Given the description of an element on the screen output the (x, y) to click on. 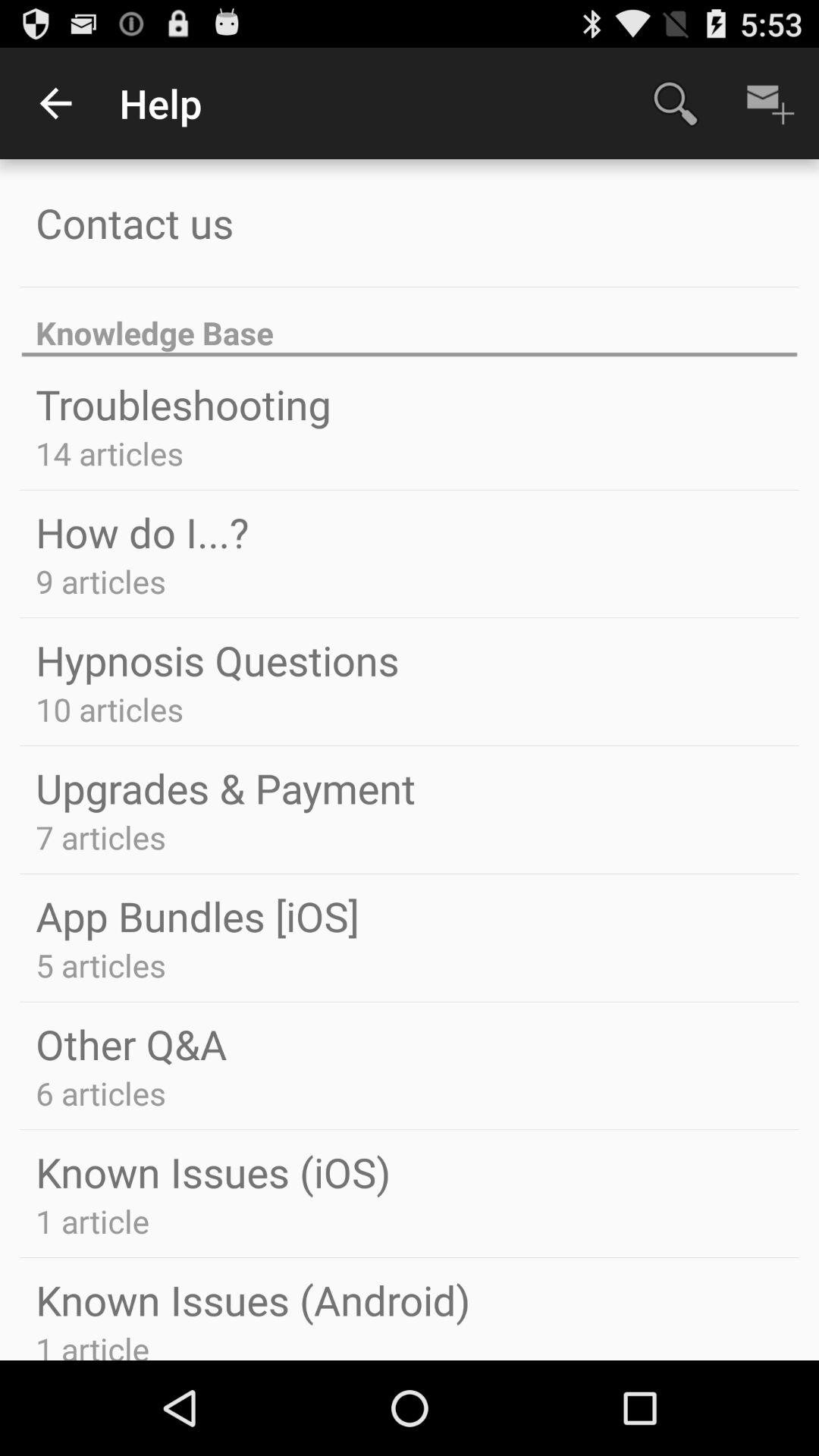
click icon to the left of help (55, 103)
